Given the description of an element on the screen output the (x, y) to click on. 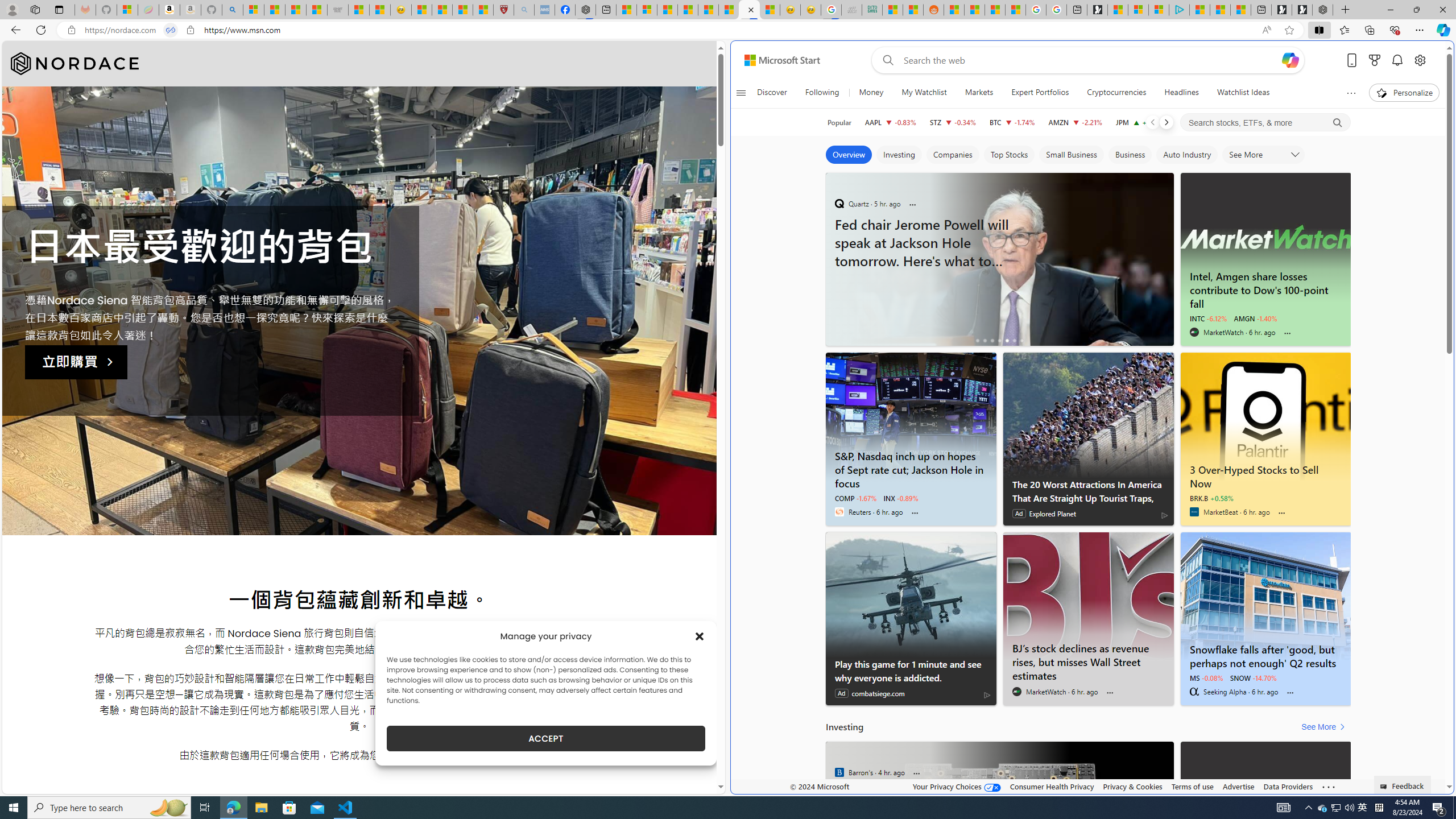
COMP -1.67% (855, 497)
Previous (1151, 122)
See More (1325, 726)
